Given the description of an element on the screen output the (x, y) to click on. 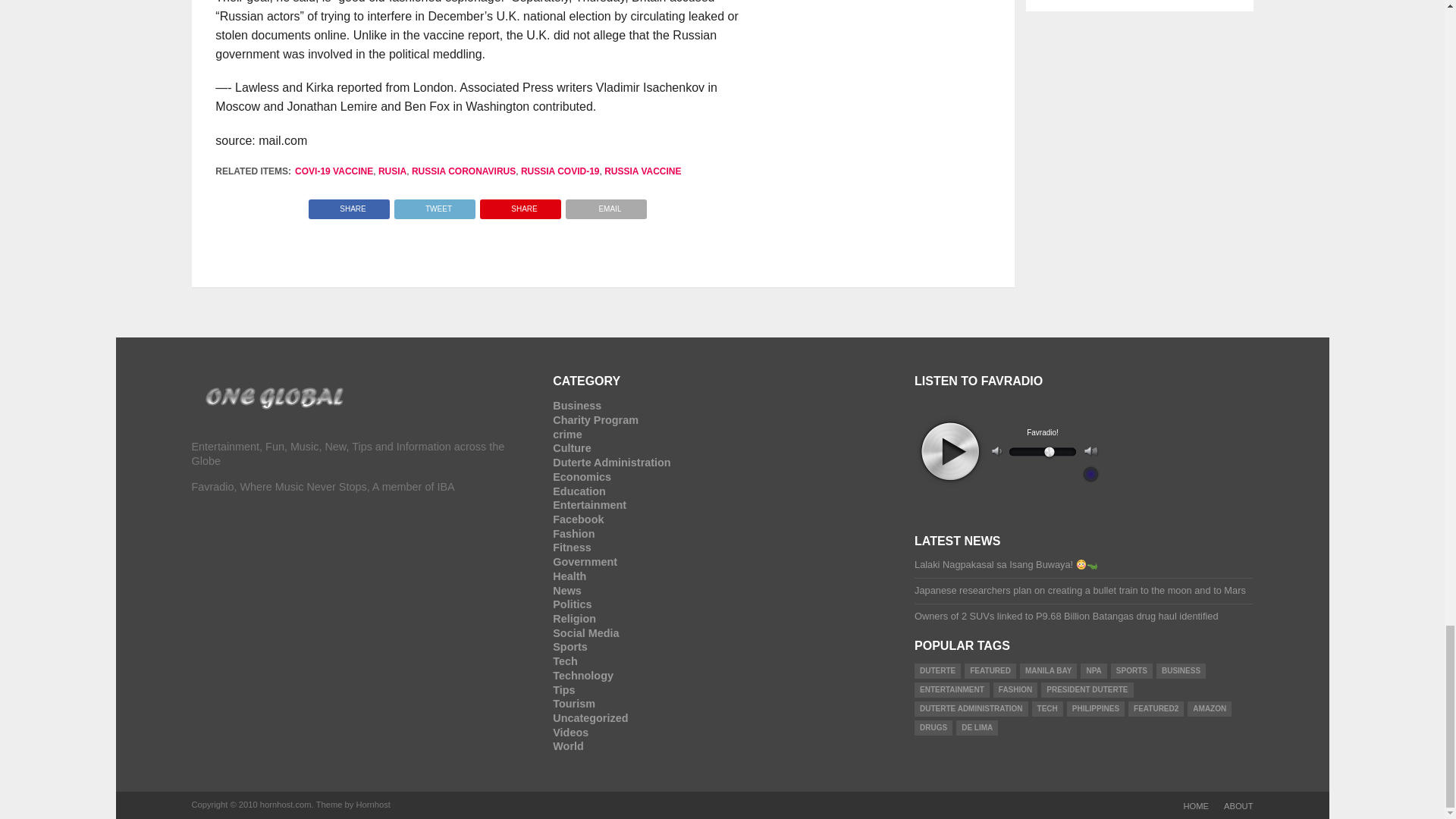
Tweet This Post (434, 205)
Pin This Post (520, 205)
Share on Facebook (349, 205)
